Given the description of an element on the screen output the (x, y) to click on. 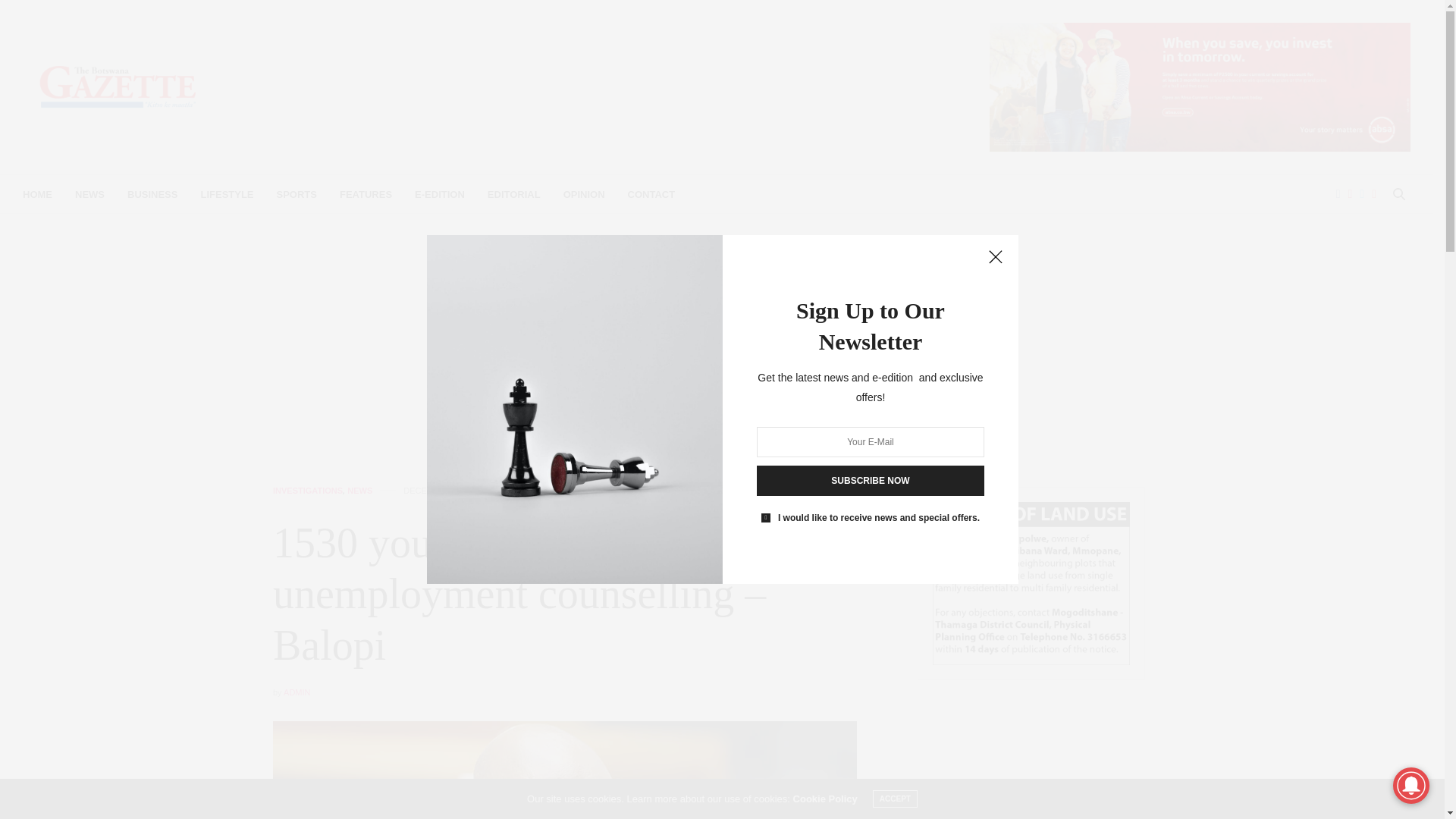
EDITORIAL (513, 193)
Scroll To Top (1408, 782)
Posts by Admin (296, 691)
Botswana Gazette (117, 86)
E-EDITION (439, 193)
SUBSCRIBE NOW (870, 481)
HOME (37, 193)
OPINION (584, 193)
CONTACT (651, 193)
NEWS (89, 193)
SPORTS (296, 193)
NEWS (359, 490)
FEATURES (365, 193)
BUSINESS (152, 193)
